Given the description of an element on the screen output the (x, y) to click on. 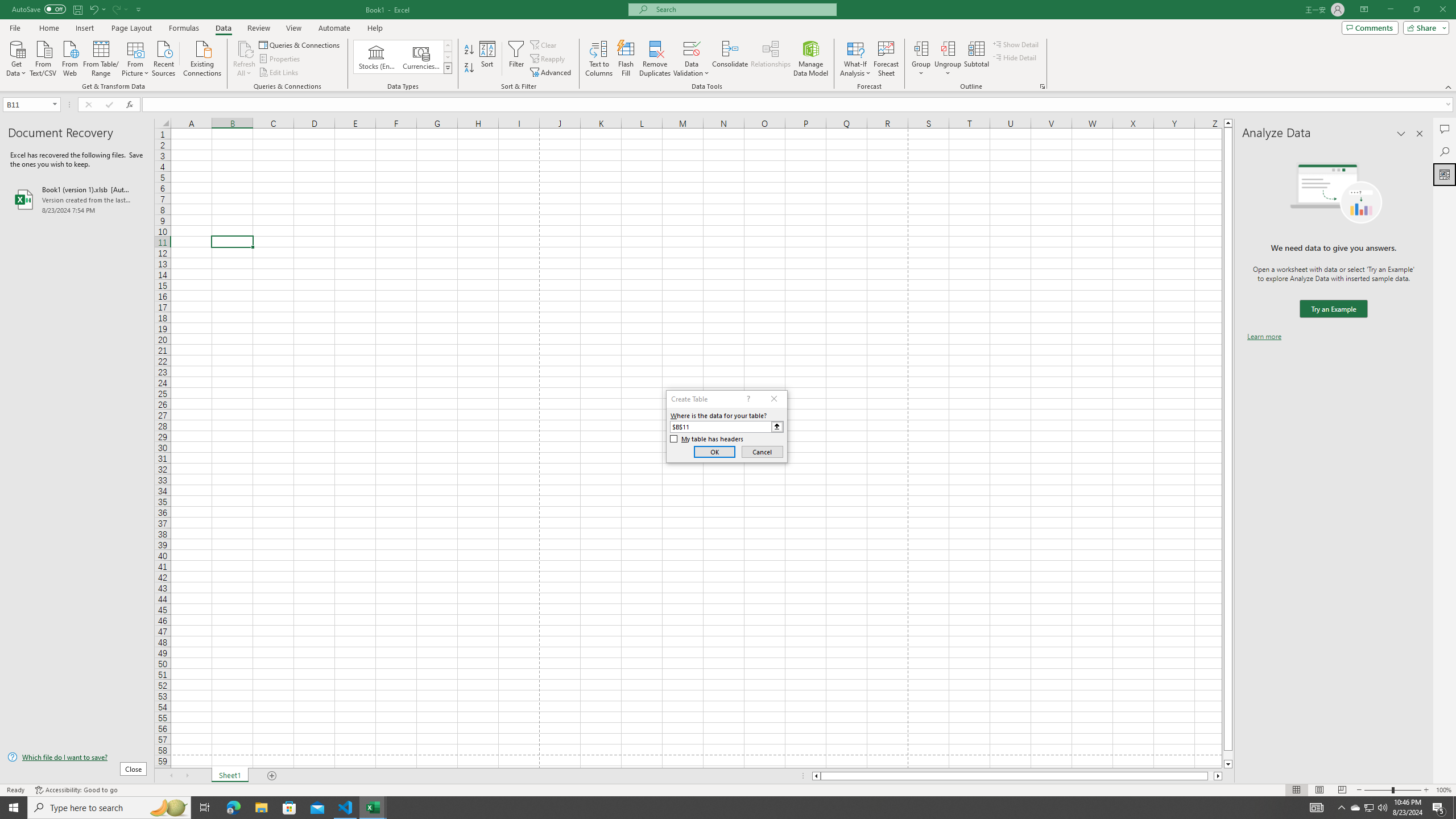
Page right (1211, 775)
Undo (96, 9)
Hide Detail (1014, 56)
Sort... (487, 58)
Line up (1228, 122)
Page Layout (1318, 790)
Edit Links (279, 72)
From Web (69, 57)
Automate (334, 28)
Subtotal (976, 58)
File Tab (15, 27)
Formulas (184, 28)
Group... (921, 58)
Remove Duplicates (654, 58)
